Given the description of an element on the screen output the (x, y) to click on. 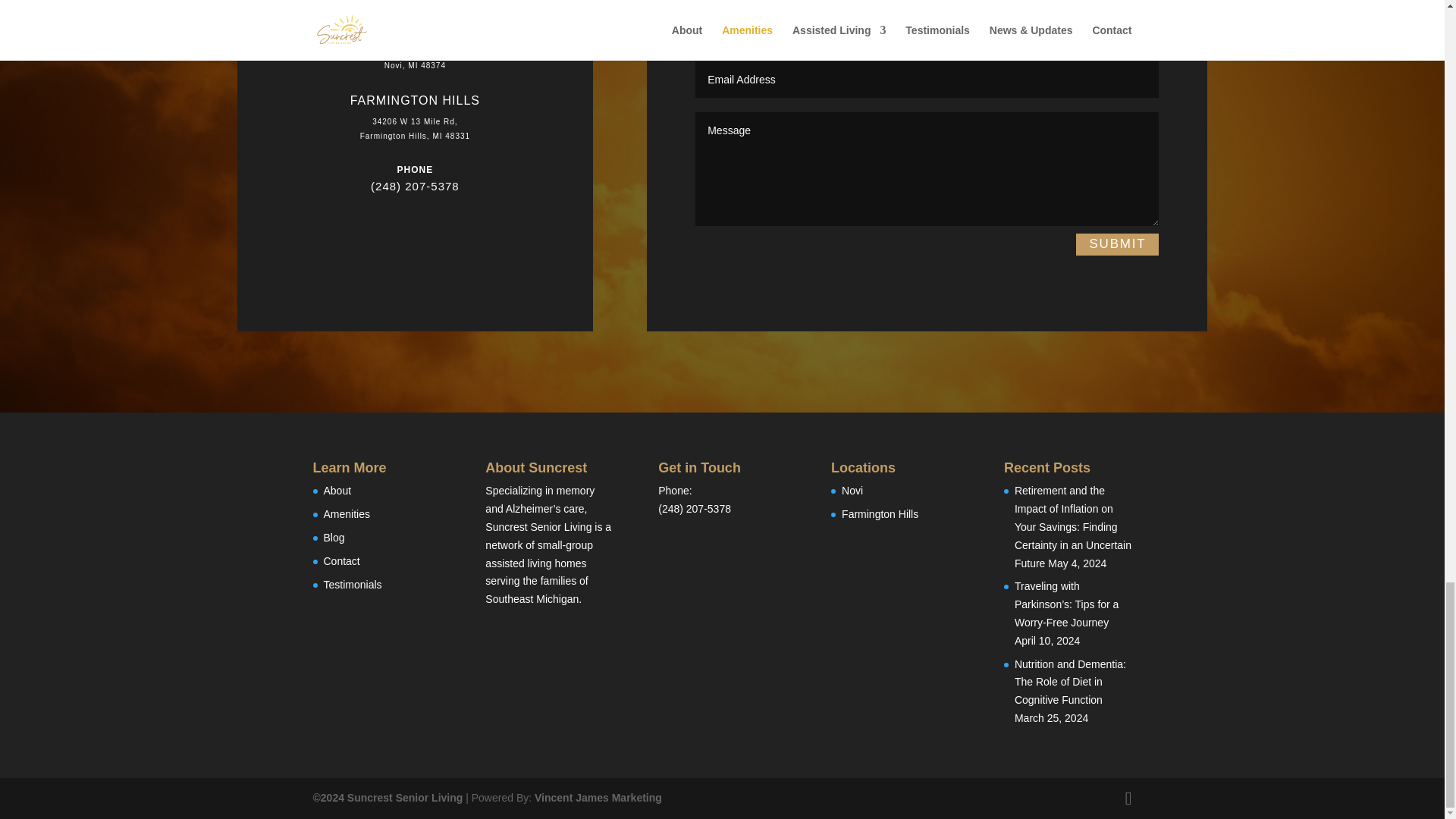
Blog (333, 537)
Farmington Hills (879, 513)
Testimonials (352, 584)
SUBMIT (1116, 244)
About (336, 490)
Contact (341, 561)
Vincent James Marketing (598, 797)
Amenities (346, 513)
Novi (852, 490)
